Given the description of an element on the screen output the (x, y) to click on. 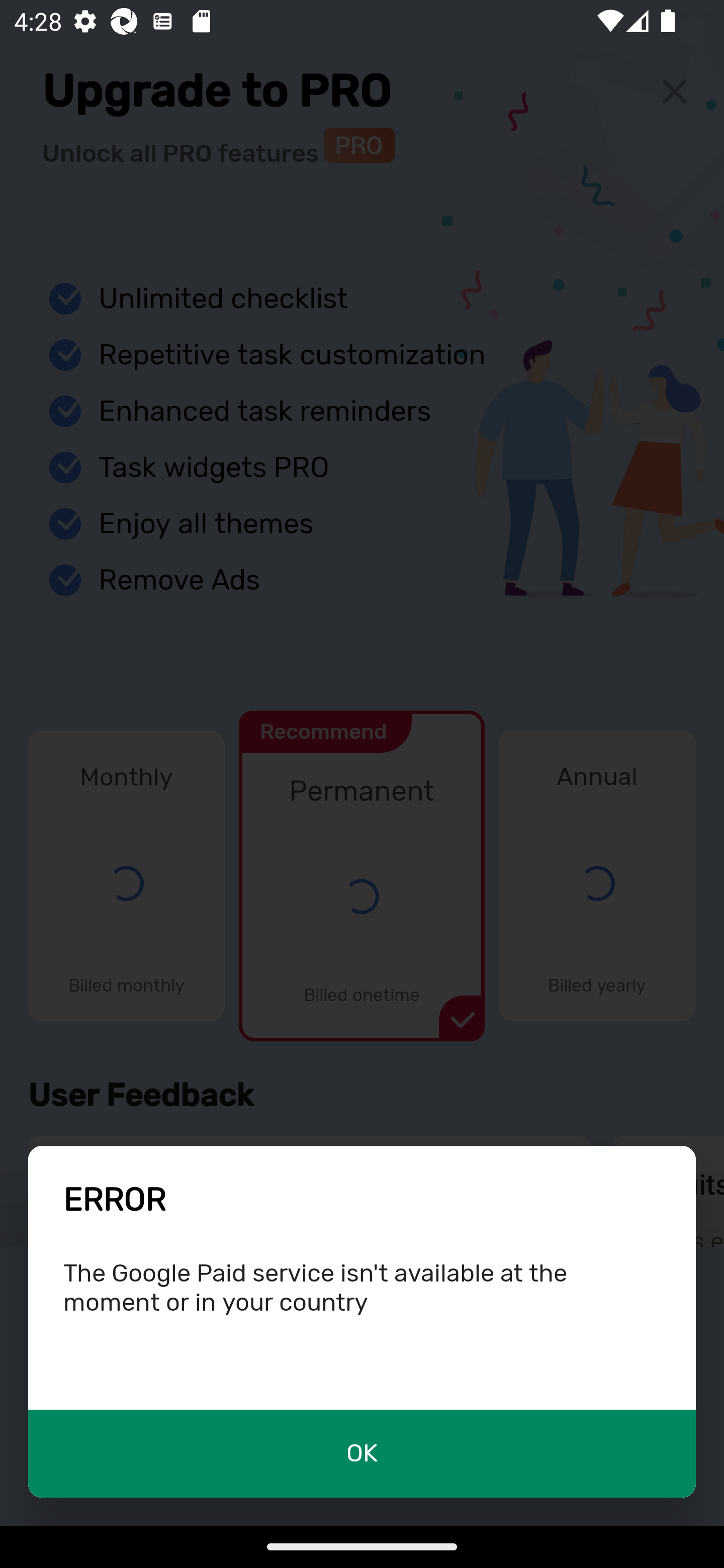
OK (361, 1453)
